Given the description of an element on the screen output the (x, y) to click on. 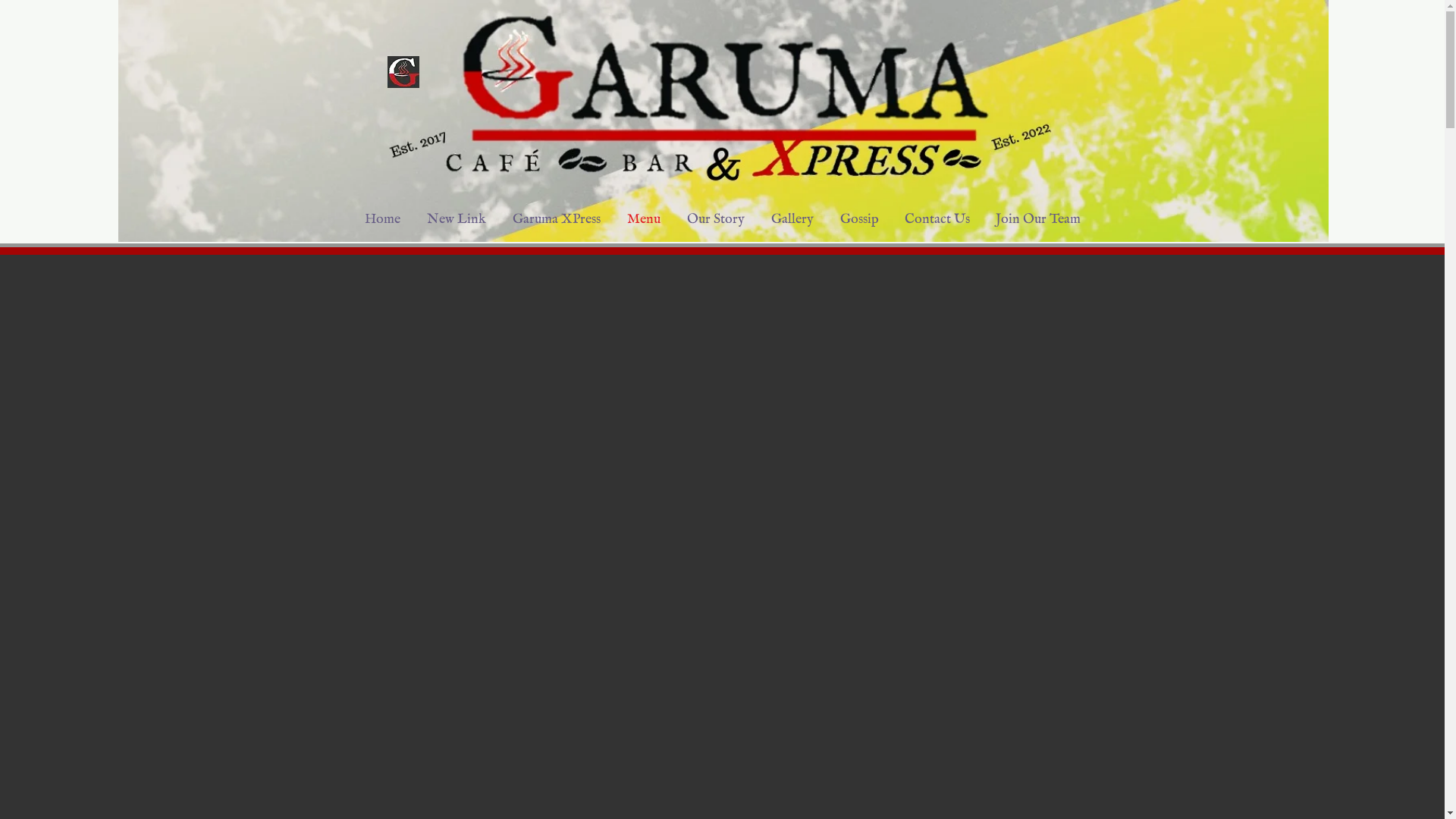
Menu Element type: text (644, 219)
New Link Element type: text (456, 219)
Our Story Element type: text (715, 219)
Gossip Element type: text (858, 219)
Garuma XPress Element type: text (555, 219)
Join Our Team Element type: text (1037, 219)
Gallery Element type: text (792, 219)
Contact Us Element type: text (936, 219)
Home Element type: text (382, 219)
